Given the description of an element on the screen output the (x, y) to click on. 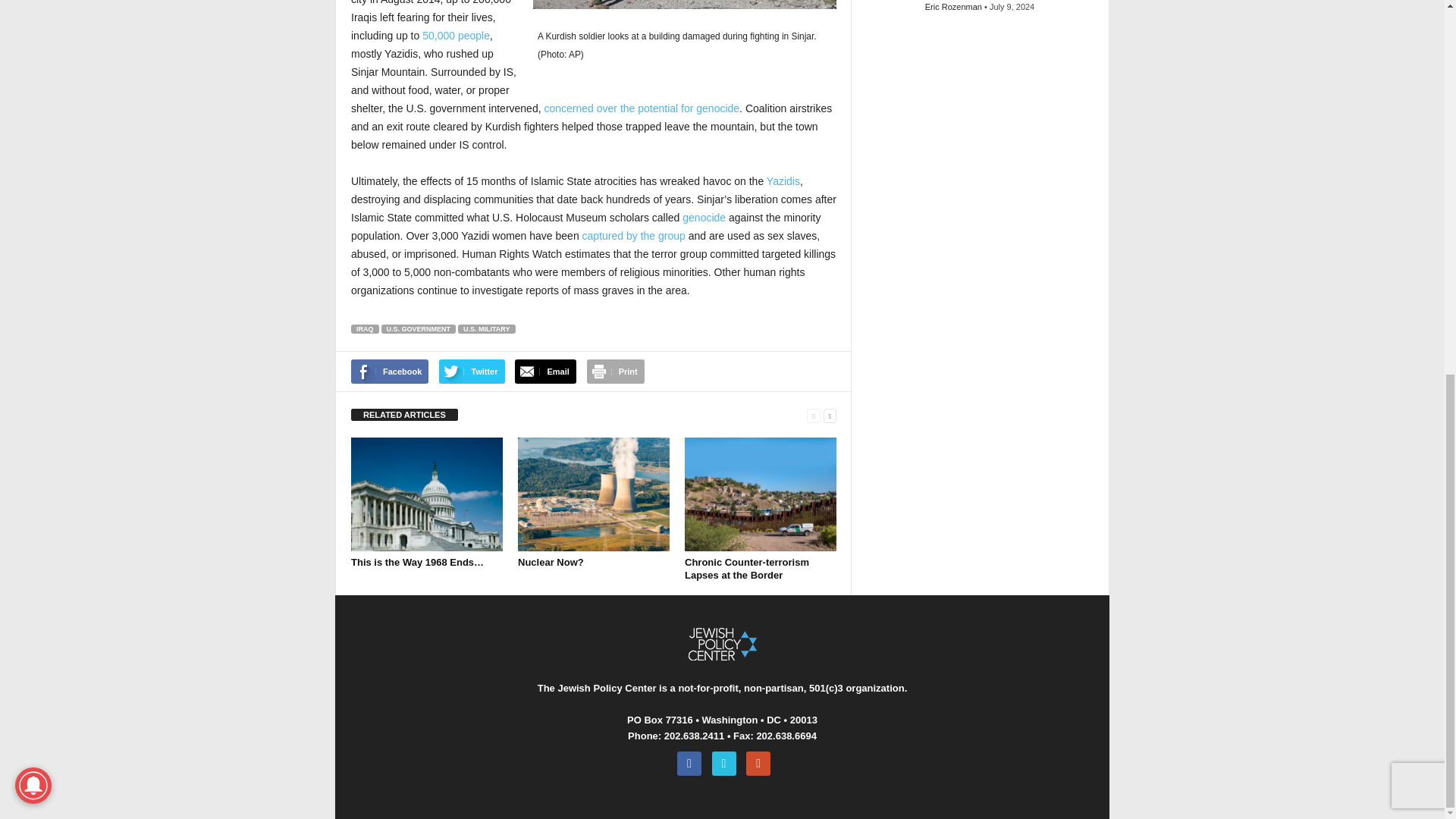
Chronic Counter-terrorism Lapses at the Border (759, 494)
Nuclear Now? (593, 494)
Nuclear Now? (550, 562)
